Given the description of an element on the screen output the (x, y) to click on. 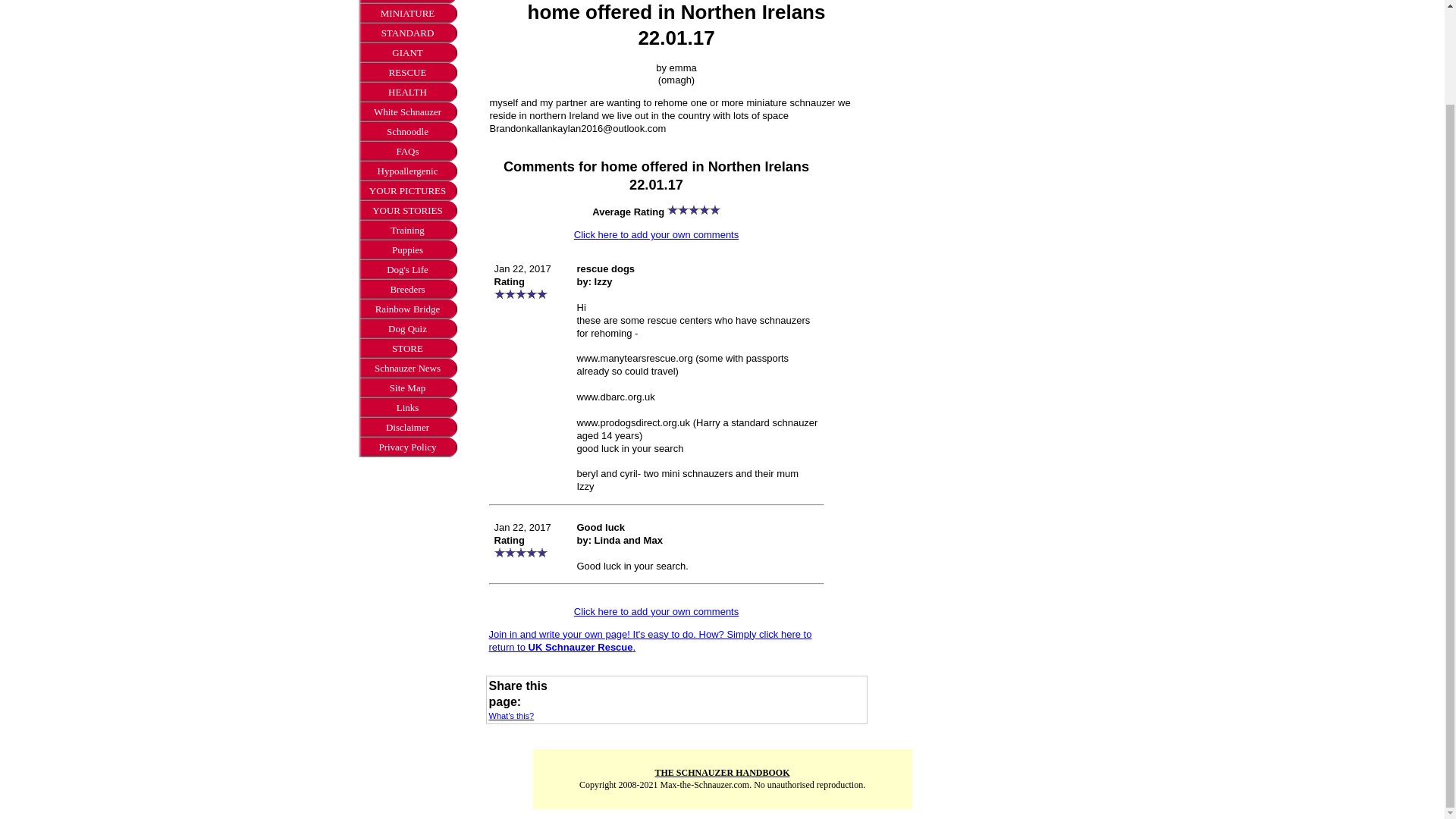
FAQs (407, 151)
Rainbow Bridge (407, 309)
YOUR STORIES (407, 210)
Links (407, 407)
Site Map (407, 388)
Schnoodle (407, 131)
Dog Quiz (407, 329)
THE SCHNAUZER HANDBOOK (721, 772)
White Schnauzer (407, 112)
RESCUE (407, 72)
